Given the description of an element on the screen output the (x, y) to click on. 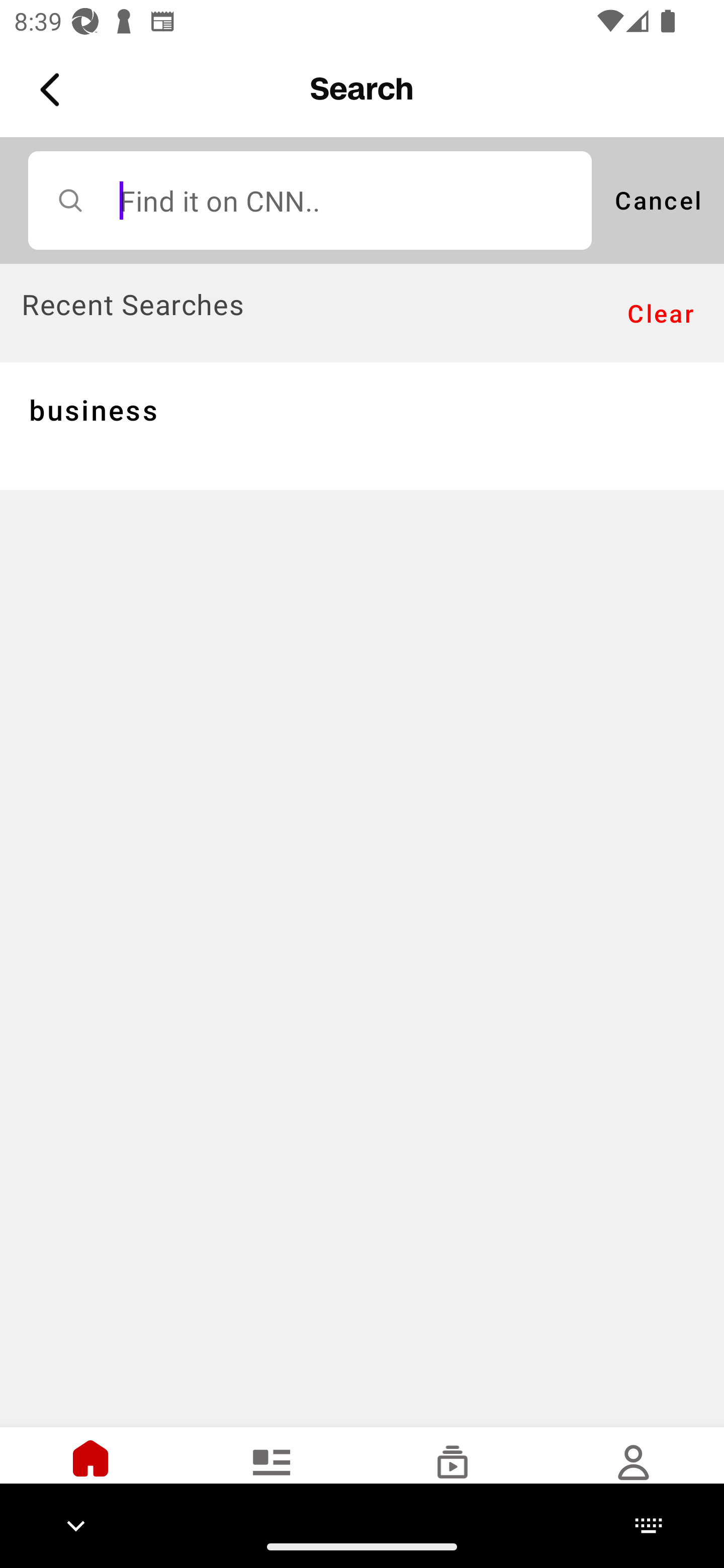
Back Button (52, 89)
Cancel (657, 199)
Find it on CNN.. (309, 199)
Clear (660, 313)
business
 (362, 425)
Elections (271, 1475)
Watch (452, 1475)
Settings (633, 1475)
